Given the description of an element on the screen output the (x, y) to click on. 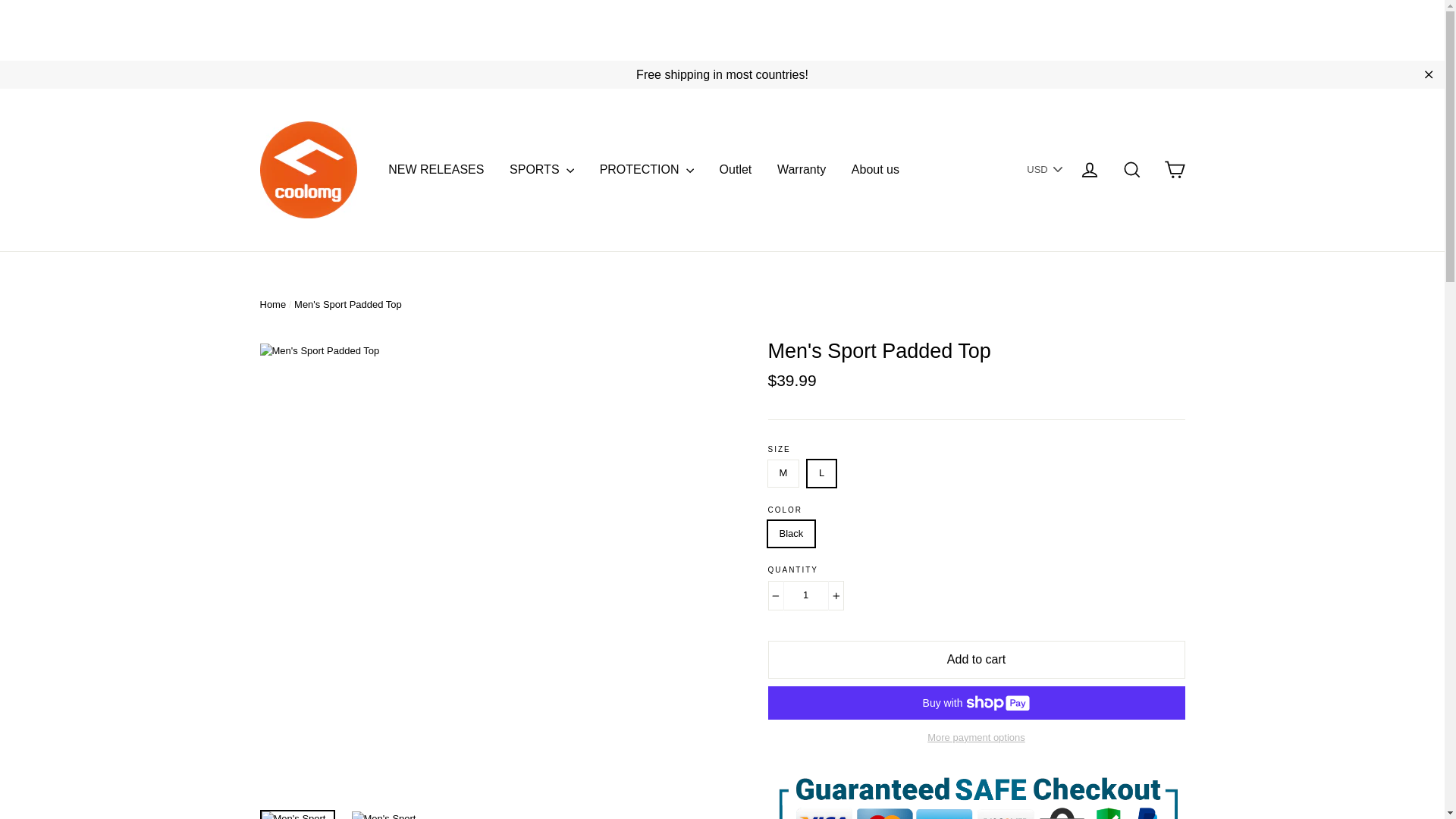
PROTECTION (646, 169)
NEW RELEASES (436, 169)
SPORTS (541, 169)
1 (805, 595)
Back to the frontpage (272, 304)
